Given the description of an element on the screen output the (x, y) to click on. 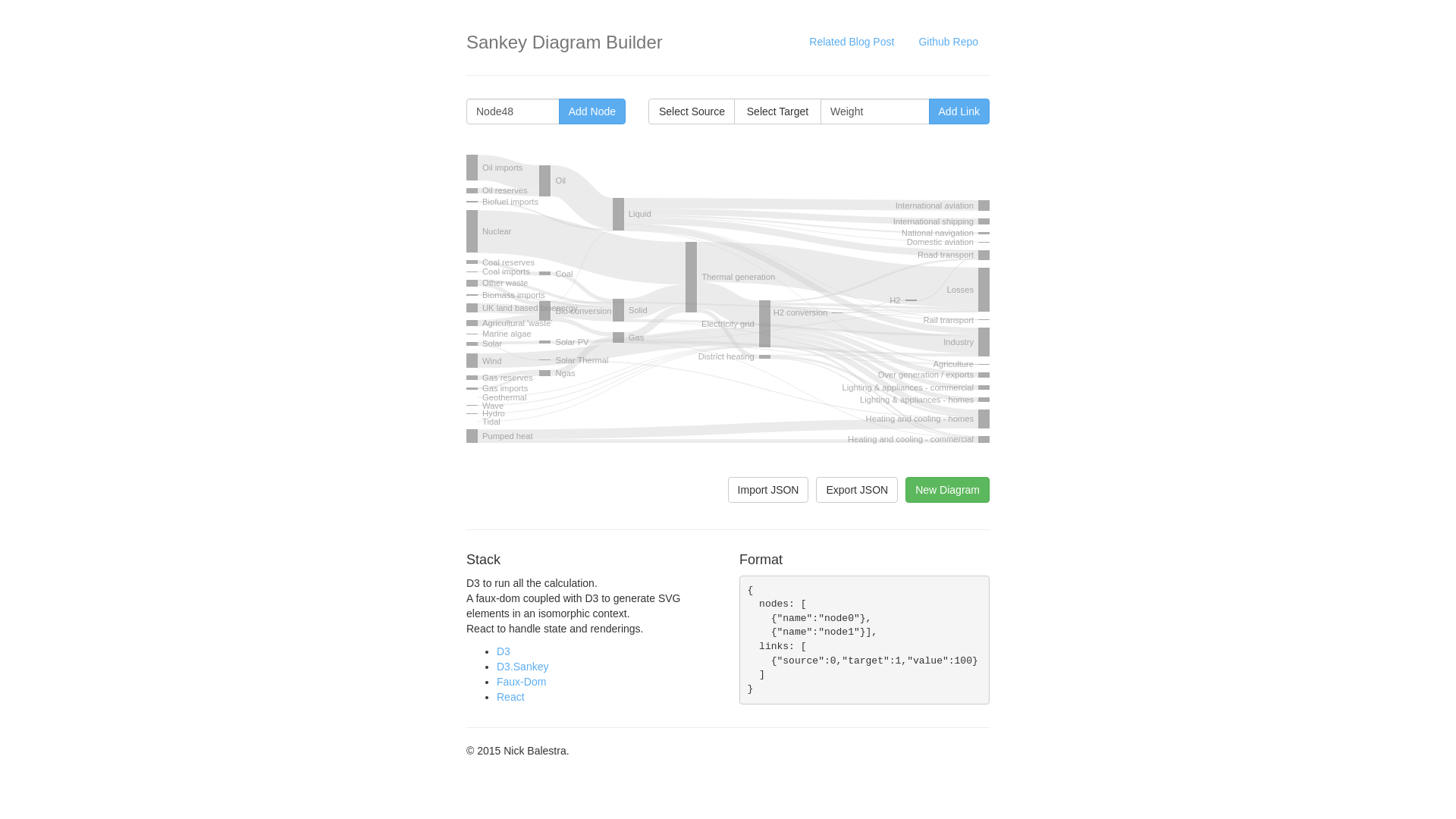
New Diagram Element type: text (947, 489)
Export JSON Element type: text (856, 489)
Add Node Element type: text (591, 111)
Related Blog Post Element type: text (851, 41)
Github Repo Element type: text (947, 41)
Add Link Element type: text (958, 111)
Faux-Dom Element type: text (521, 681)
React Element type: text (510, 696)
D3 Element type: text (503, 651)
D3.Sankey Element type: text (522, 666)
